Given the description of an element on the screen output the (x, y) to click on. 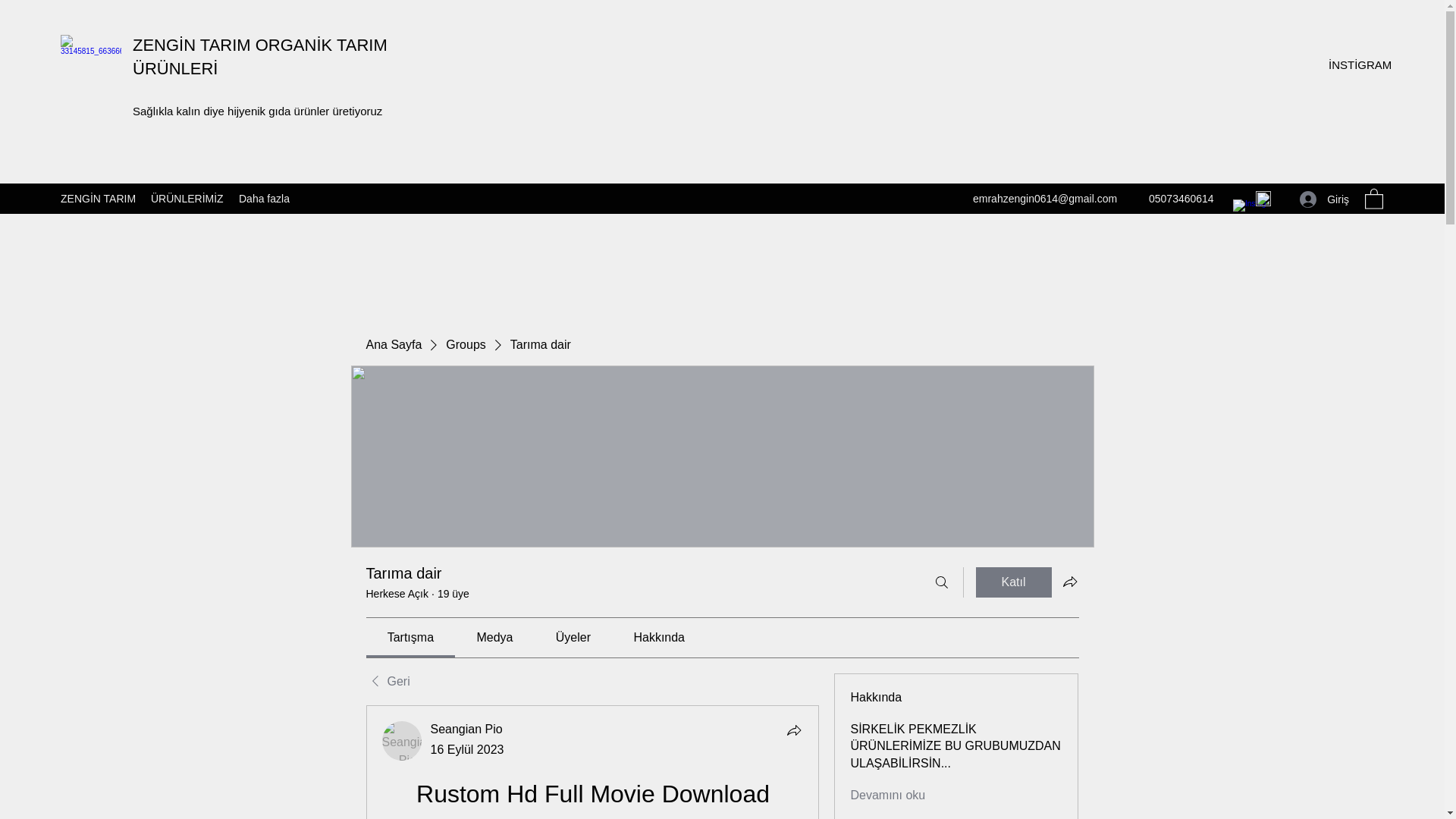
Seangian Pio (466, 728)
Seangian Pio (466, 728)
Seangian Pio (401, 740)
Groups (464, 344)
Geri (387, 681)
Ana Sayfa (393, 344)
